Given the description of an element on the screen output the (x, y) to click on. 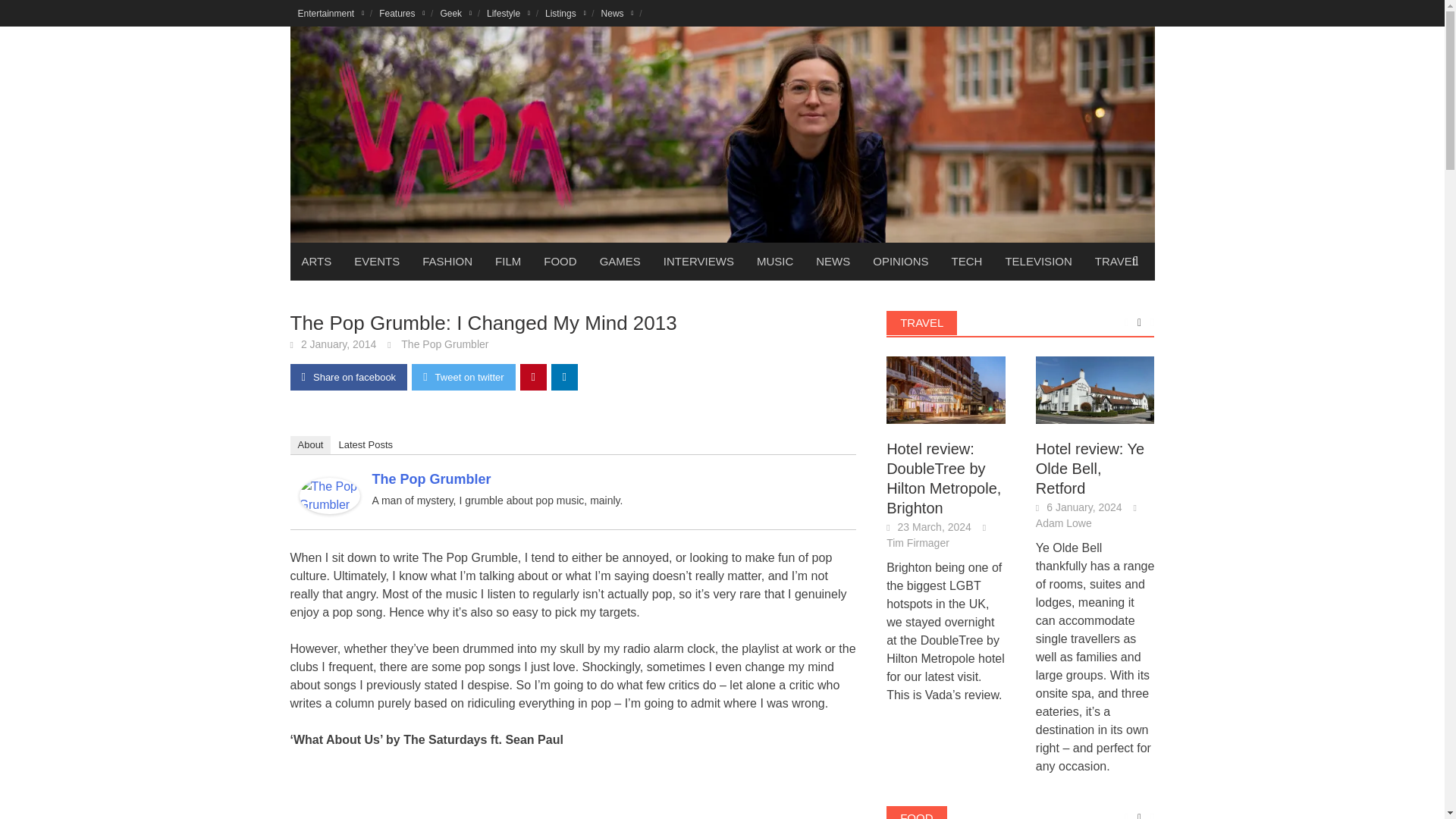
News (618, 13)
Listings (565, 13)
Geek (455, 13)
Entertainment (330, 13)
Hotel review: Ye Olde Bell, Retford (1094, 389)
Features (401, 13)
The Pop Grumbler (328, 494)
Hotel review: Ye Olde Bell, Retford (1094, 390)
Hotel review: DoubleTree by Hilton Metropole, Brighton (946, 390)
Lifestyle (508, 13)
Hotel review: DoubleTree by Hilton Metropole, Brighton (946, 389)
